Given the description of an element on the screen output the (x, y) to click on. 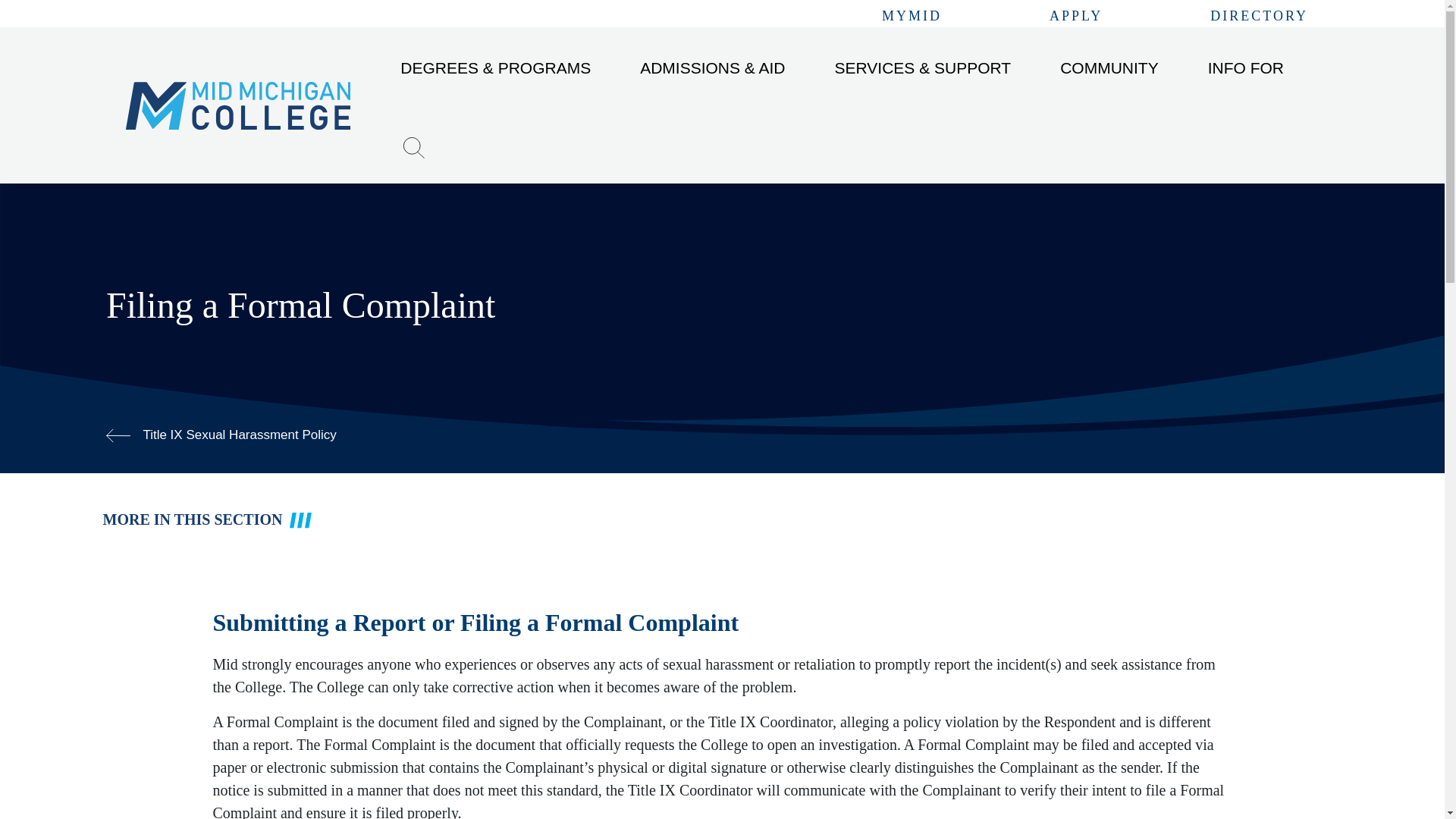
APPLY (1075, 16)
DIRECTORY (1258, 16)
MYMID (912, 16)
logo (237, 105)
